Given the description of an element on the screen output the (x, y) to click on. 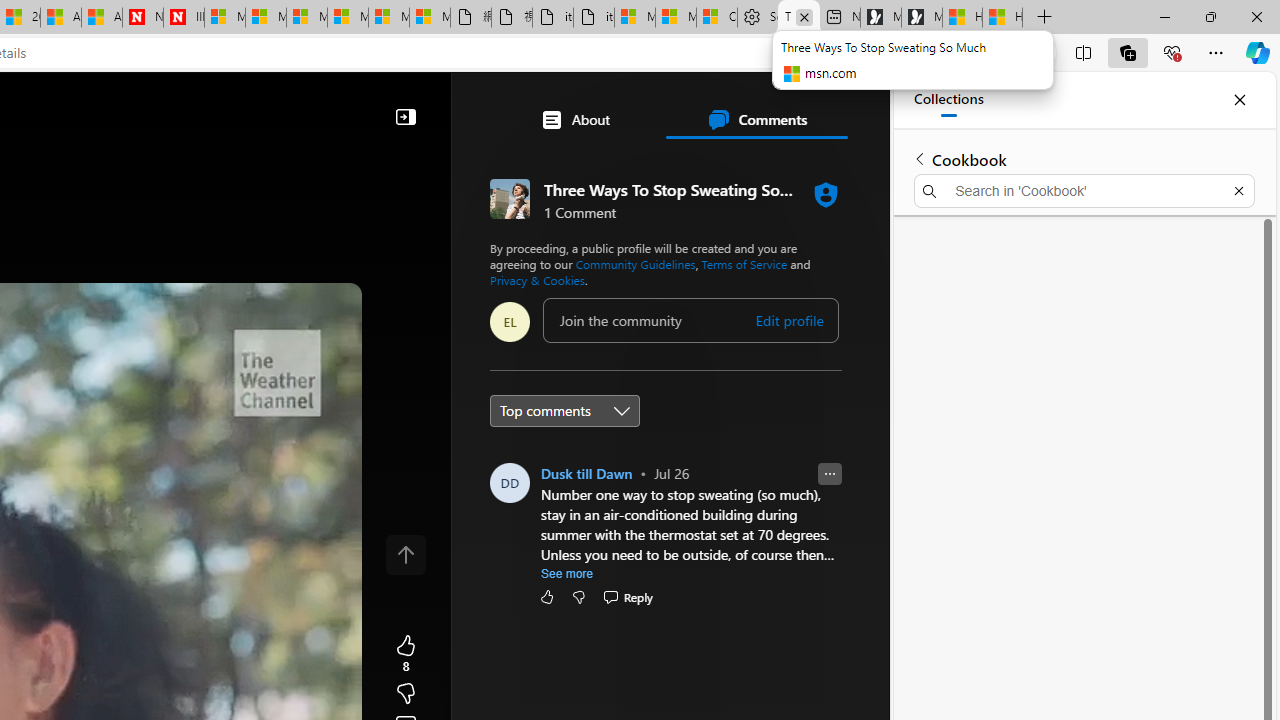
Reuters (584, 557)
Exit search (1238, 190)
Terms of Service (744, 264)
Fix Boat Bliss (694, 386)
Report comment (829, 473)
Three Ways To Stop Sweating So Much (799, 17)
